Given the description of an element on the screen output the (x, y) to click on. 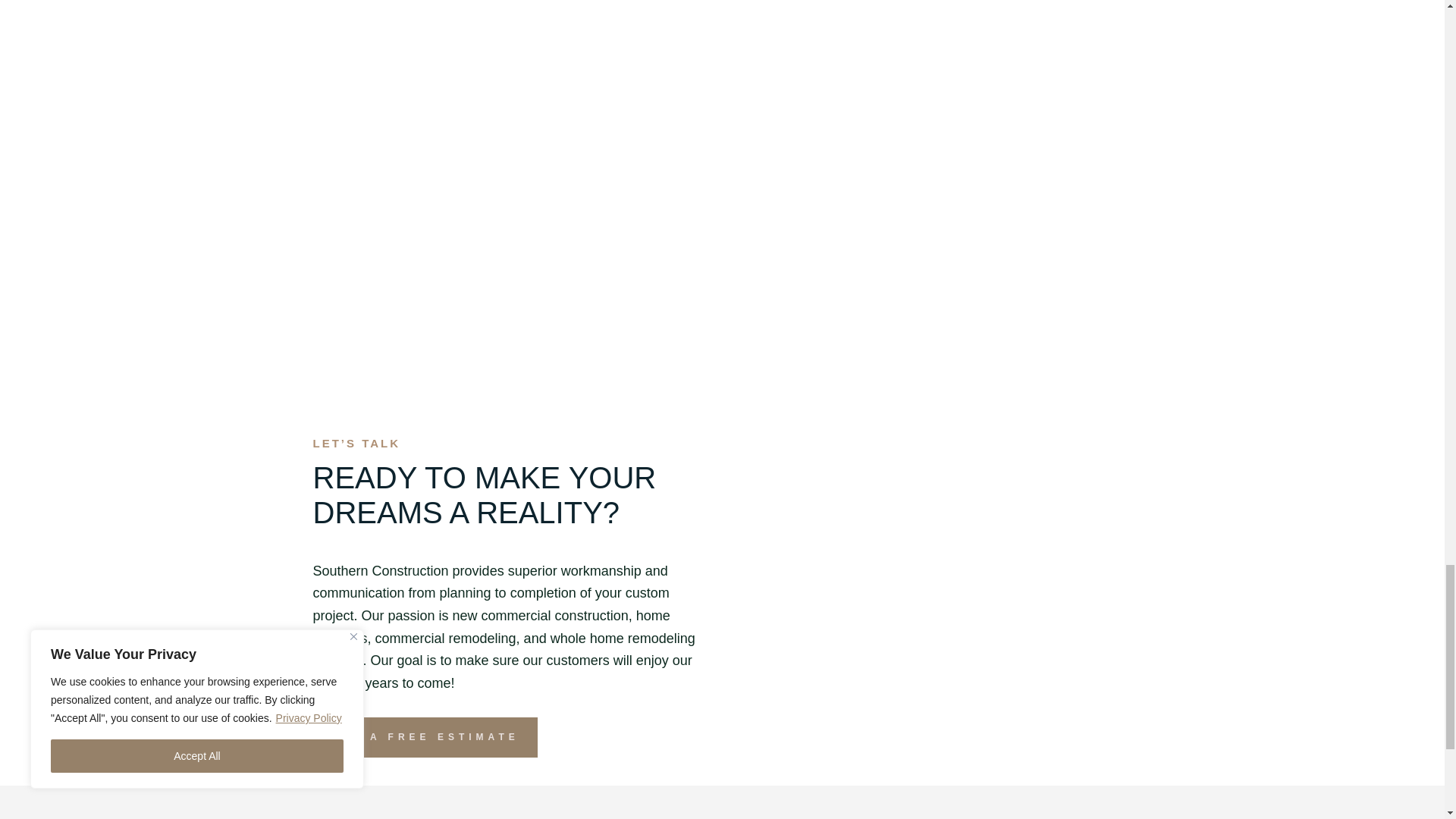
GET A FREE ESTIMATE (425, 736)
